Given the description of an element on the screen output the (x, y) to click on. 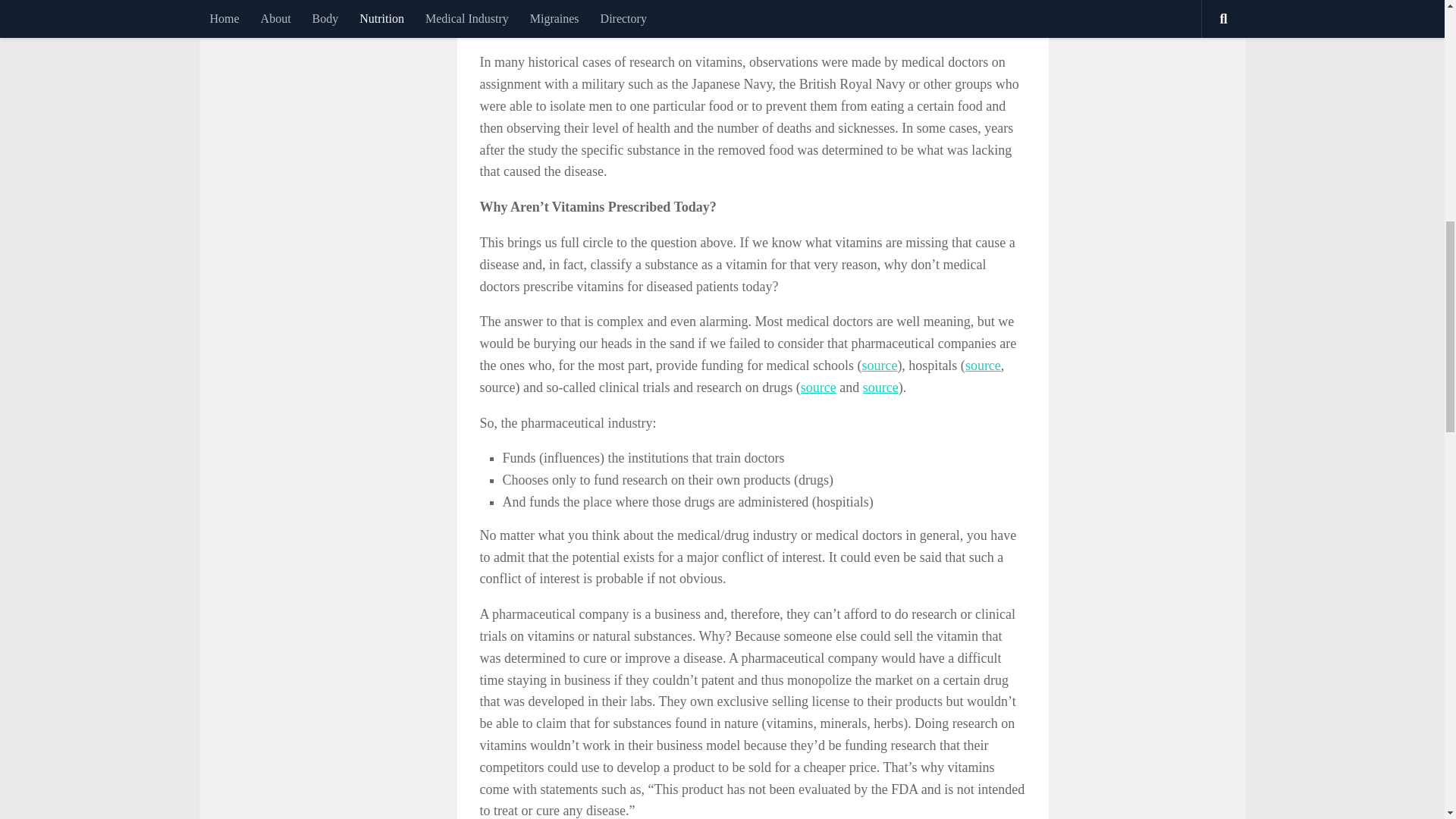
source (983, 365)
source (817, 387)
source (878, 365)
source (880, 387)
